Given the description of an element on the screen output the (x, y) to click on. 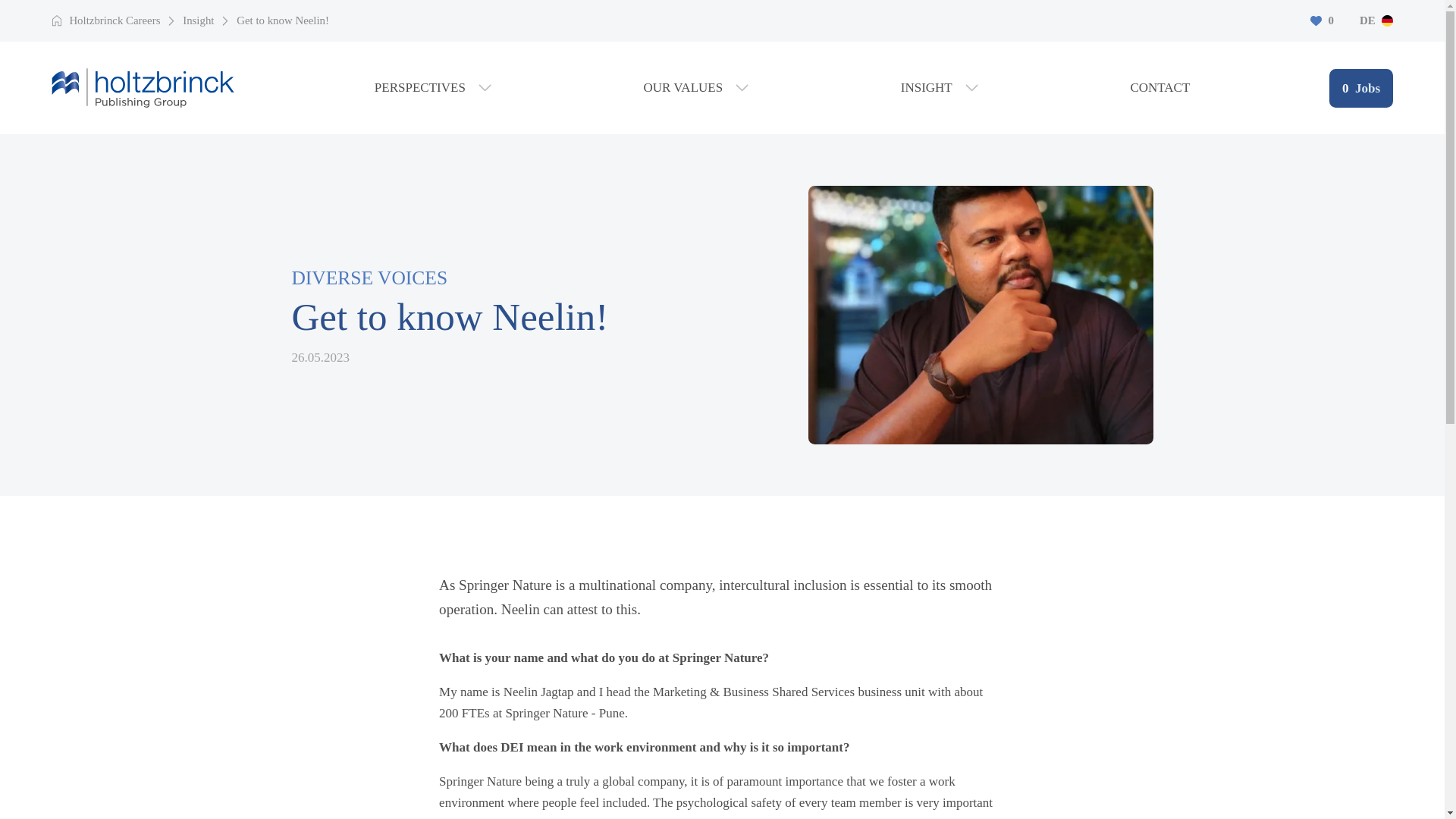
Holtzbrinck Careers (114, 20)
Contact (1159, 87)
Insight (198, 20)
Get to know Neelin! (1376, 20)
Insight (1361, 87)
holtzbrinck-careers.com - EN (939, 87)
Holtzbrinck Careers (142, 86)
Our Values (114, 20)
Perspectives (695, 87)
